Given the description of an element on the screen output the (x, y) to click on. 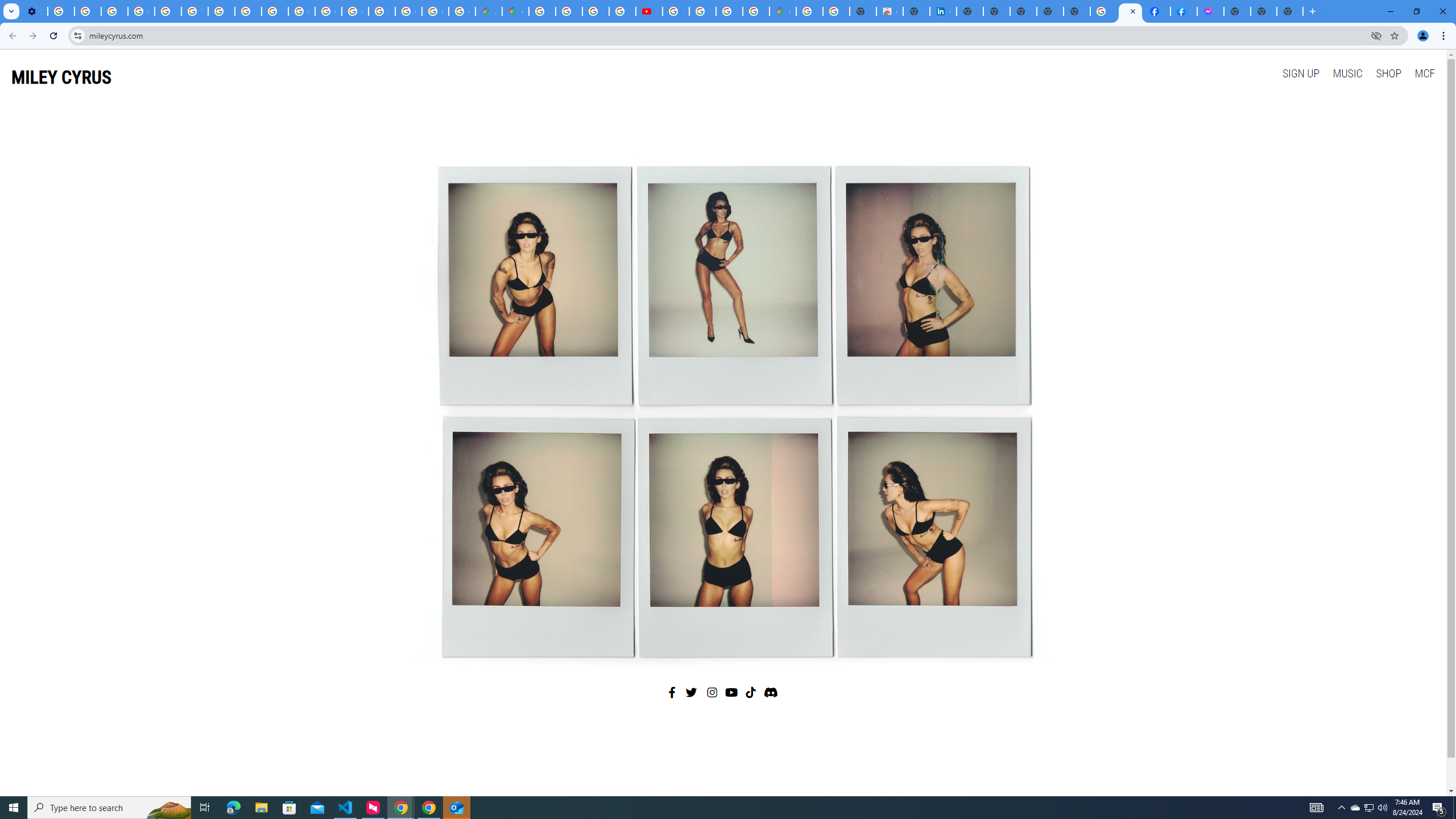
Sign Up for Facebook (1183, 11)
Miley Cyrus | Facebook (1156, 11)
MUSIC (1347, 73)
SHOP (1387, 73)
Messenger (1210, 11)
